Given the description of an element on the screen output the (x, y) to click on. 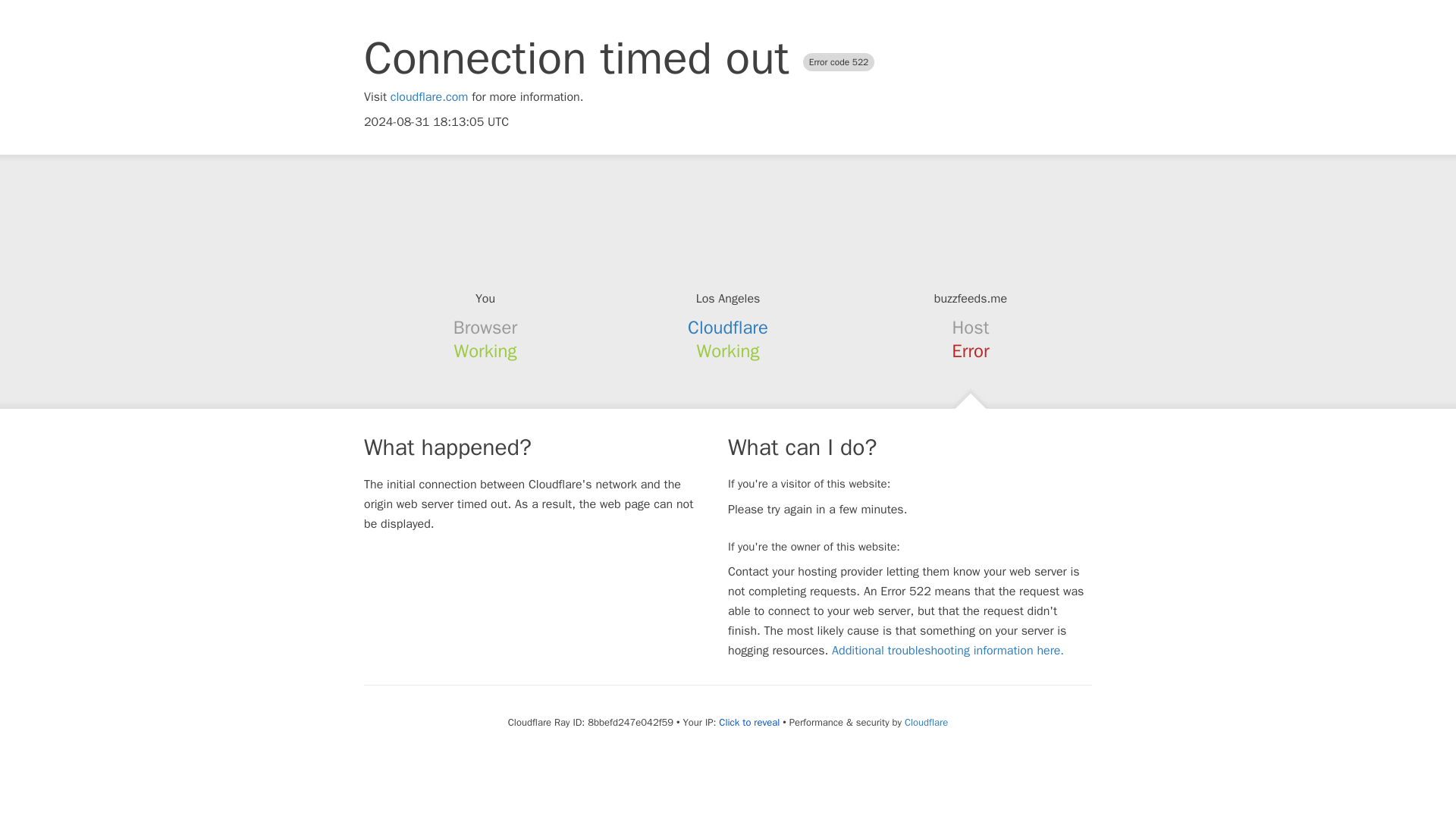
Click to reveal (748, 722)
Additional troubleshooting information here. (947, 650)
Cloudflare (925, 721)
Cloudflare (727, 327)
cloudflare.com (429, 96)
